Given the description of an element on the screen output the (x, y) to click on. 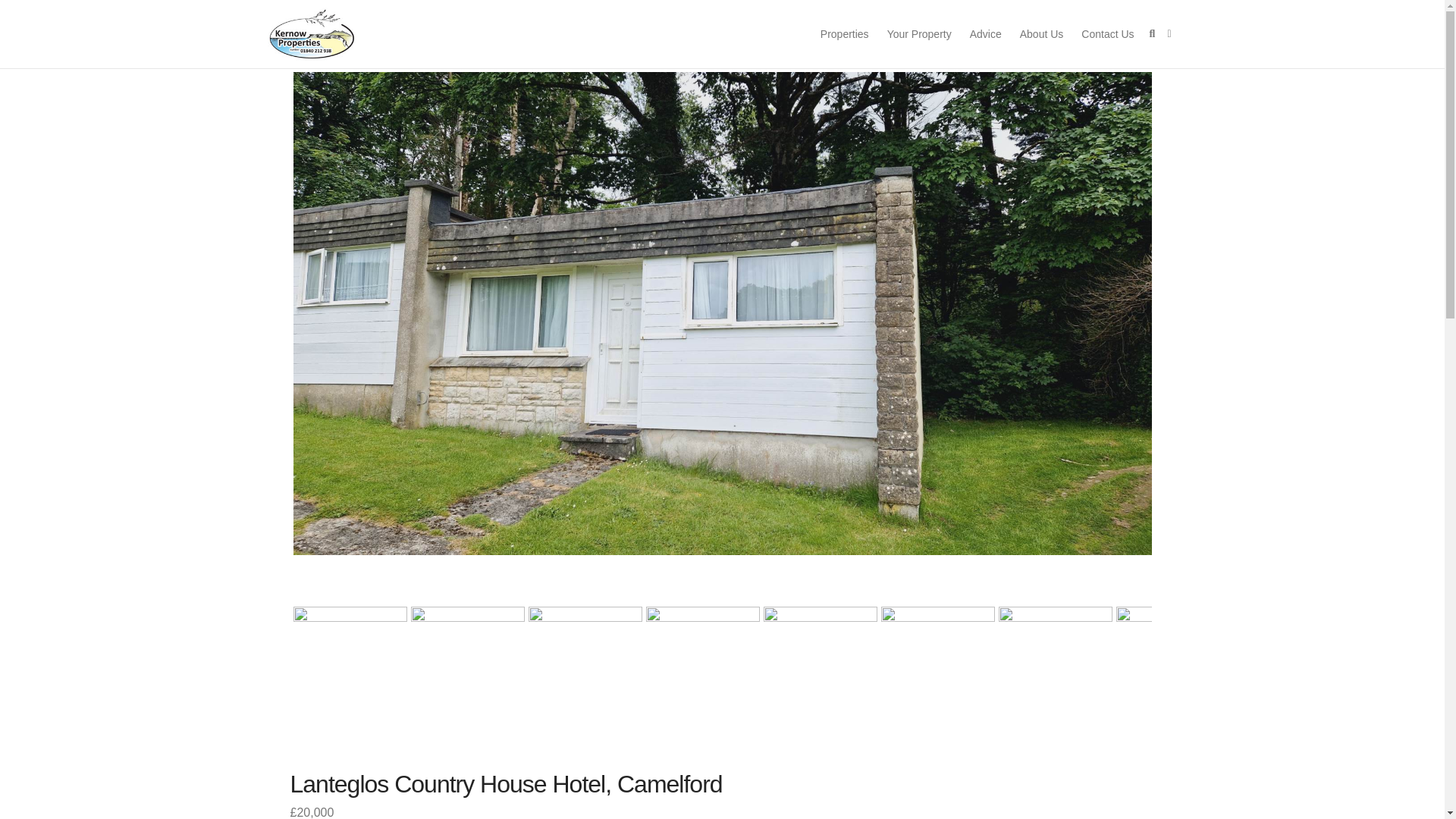
Kernow Properties (310, 34)
About Us (1041, 33)
Contact Us (1106, 33)
Properties (843, 33)
Your Property (918, 33)
